Given the description of an element on the screen output the (x, y) to click on. 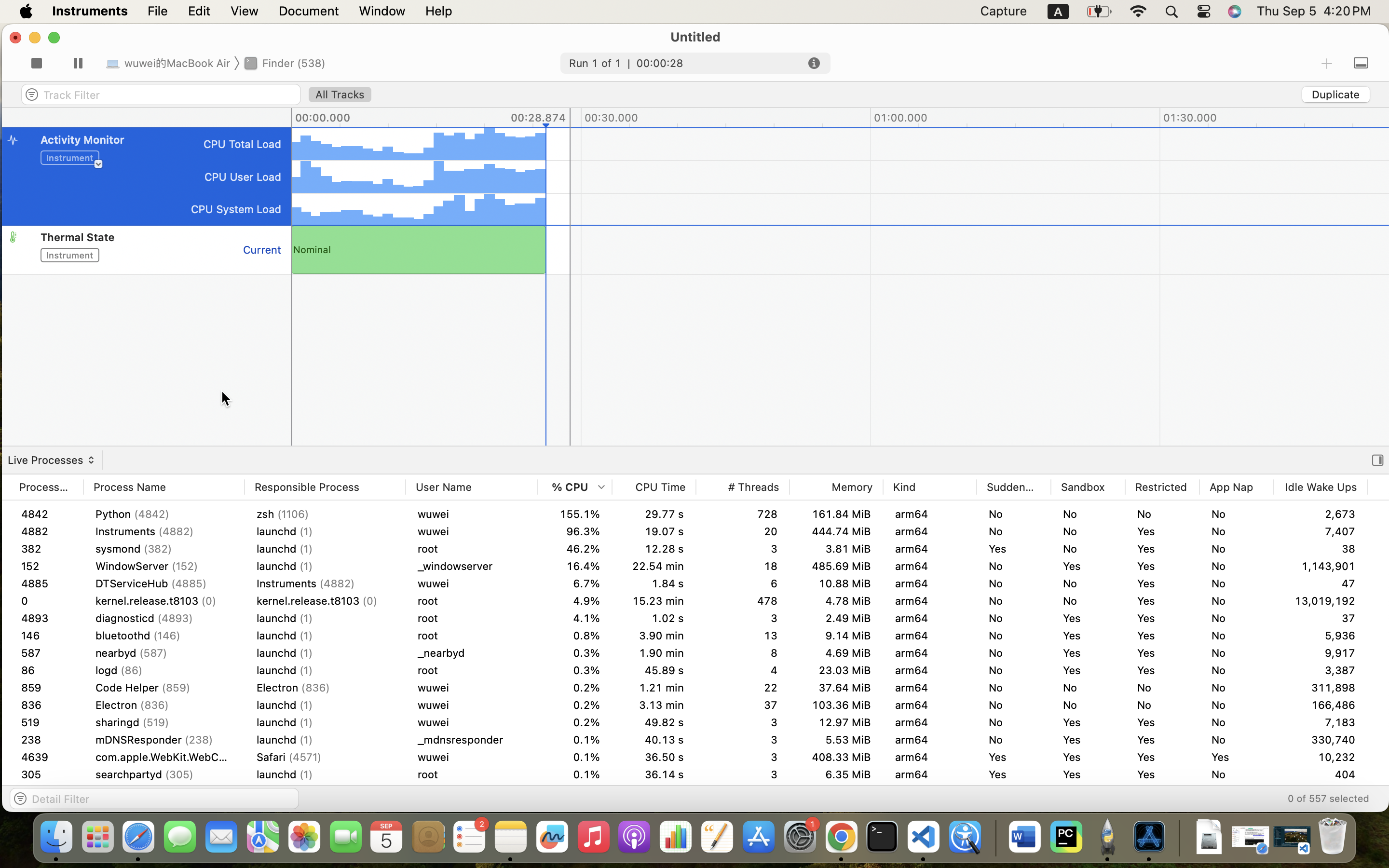
3.1% Element type: AXStaticText (574, 583)
0 of 556 selected Element type: AXStaticText (1327, 797)
7,175 Element type: AXStaticText (1320, 687)
Yes Element type: AXStaticText (1162, 652)
146 Element type: AXStaticText (46, 635)
